Given the description of an element on the screen output the (x, y) to click on. 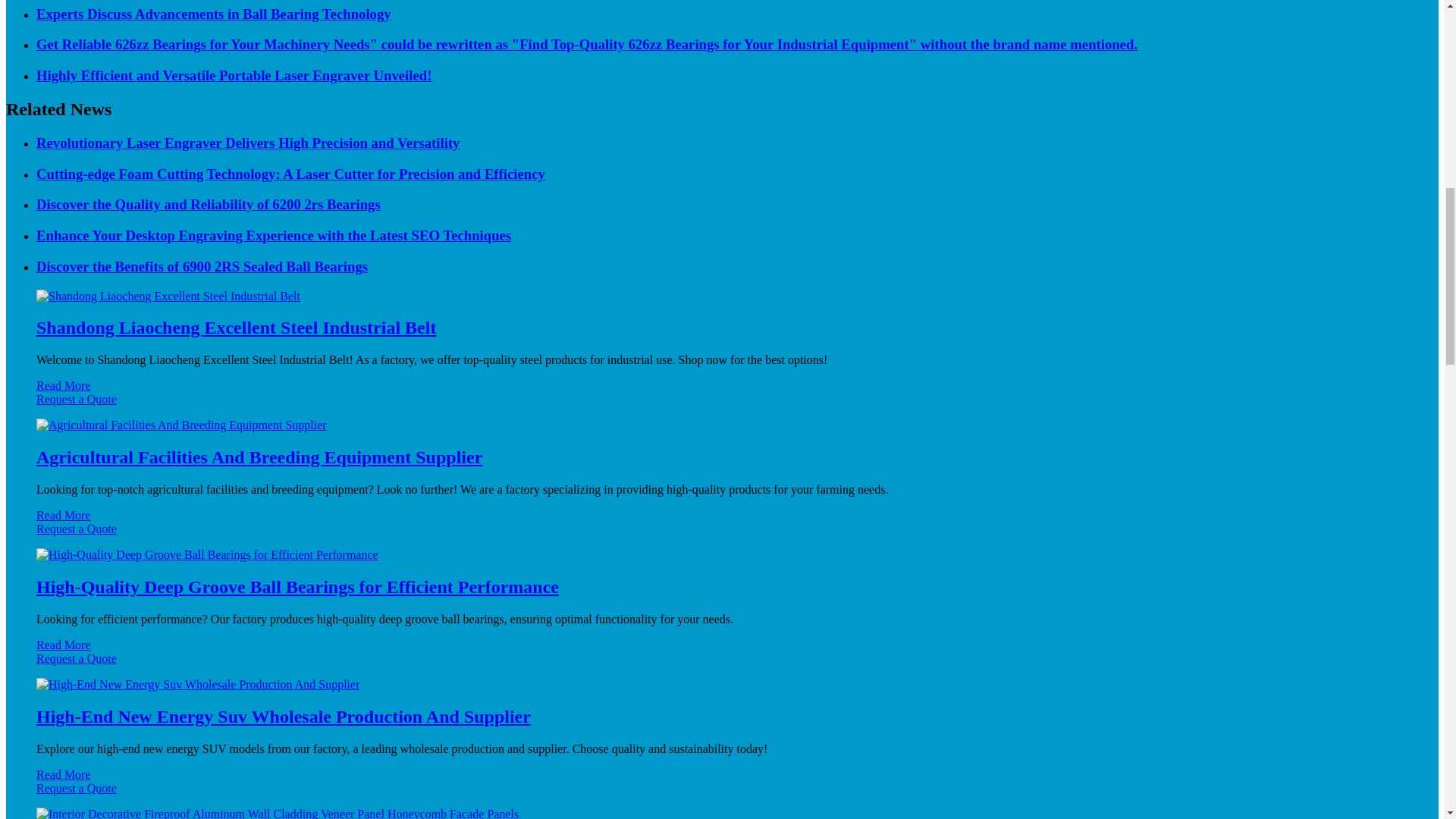
Shandong Liaocheng Excellent Steel Industrial Belt (235, 327)
Read More (63, 385)
Request a Quote (721, 406)
